Given the description of an element on the screen output the (x, y) to click on. 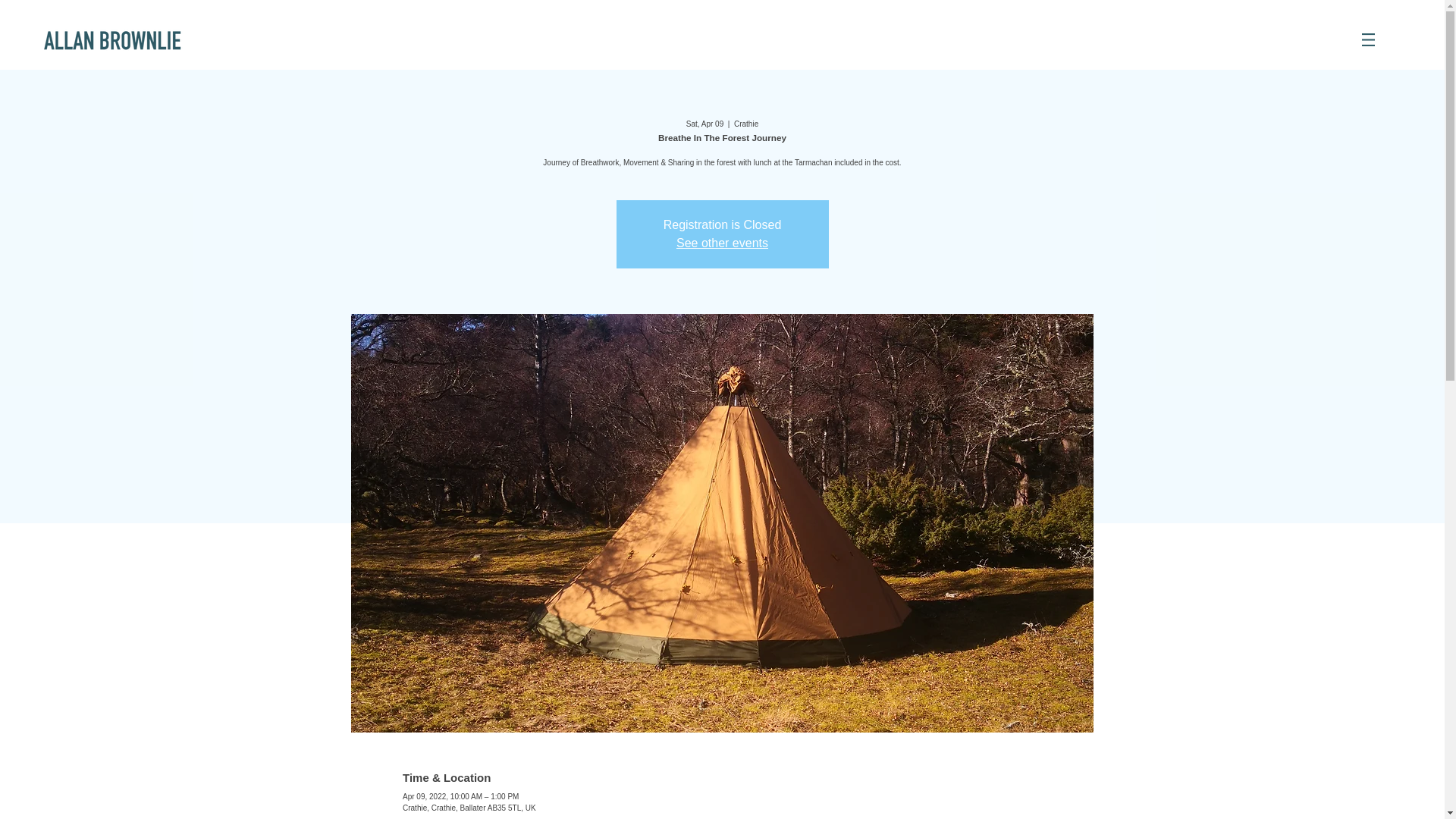
See other events (722, 242)
